Given the description of an element on the screen output the (x, y) to click on. 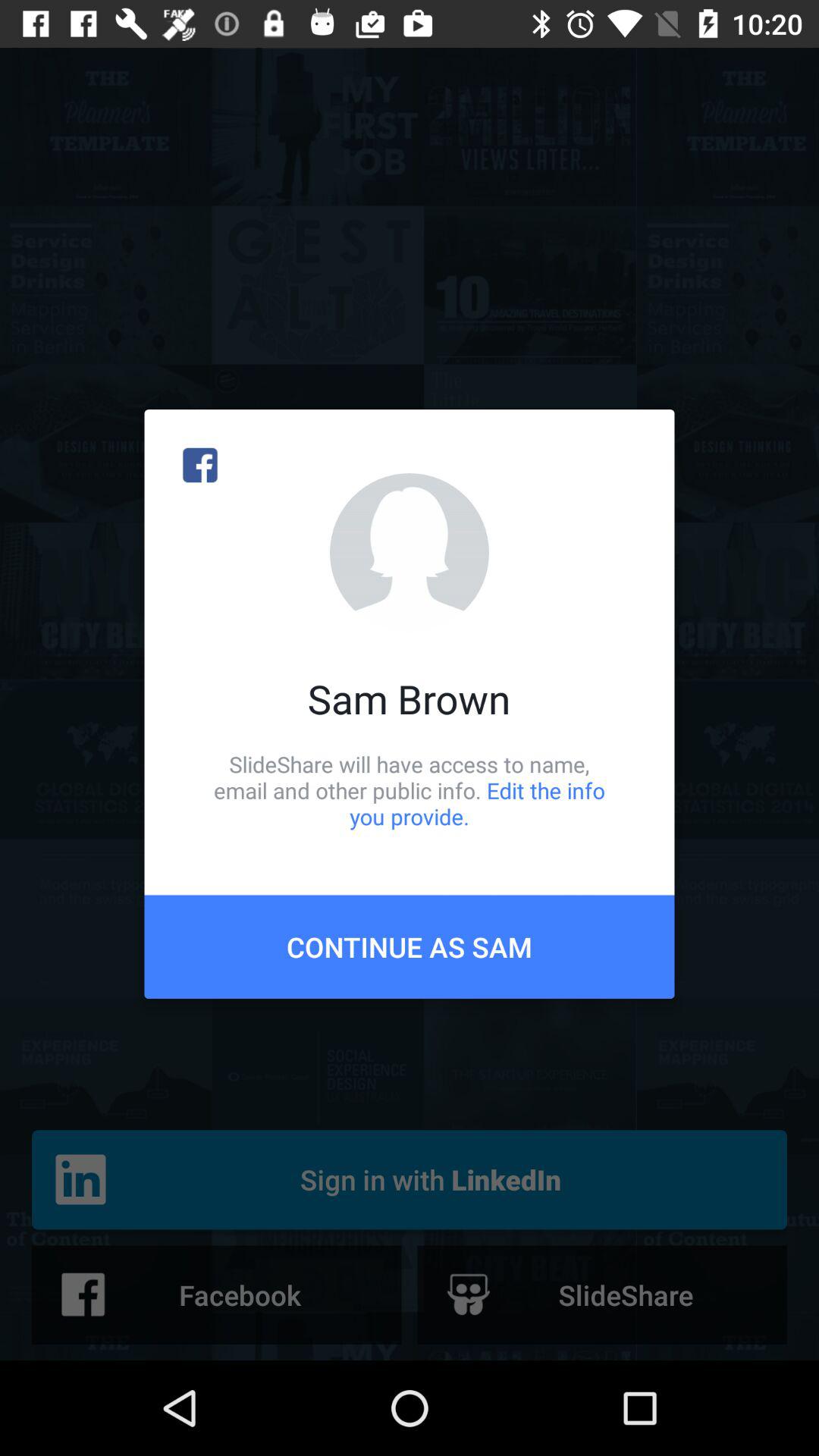
open icon below the sam brown item (409, 790)
